Given the description of an element on the screen output the (x, y) to click on. 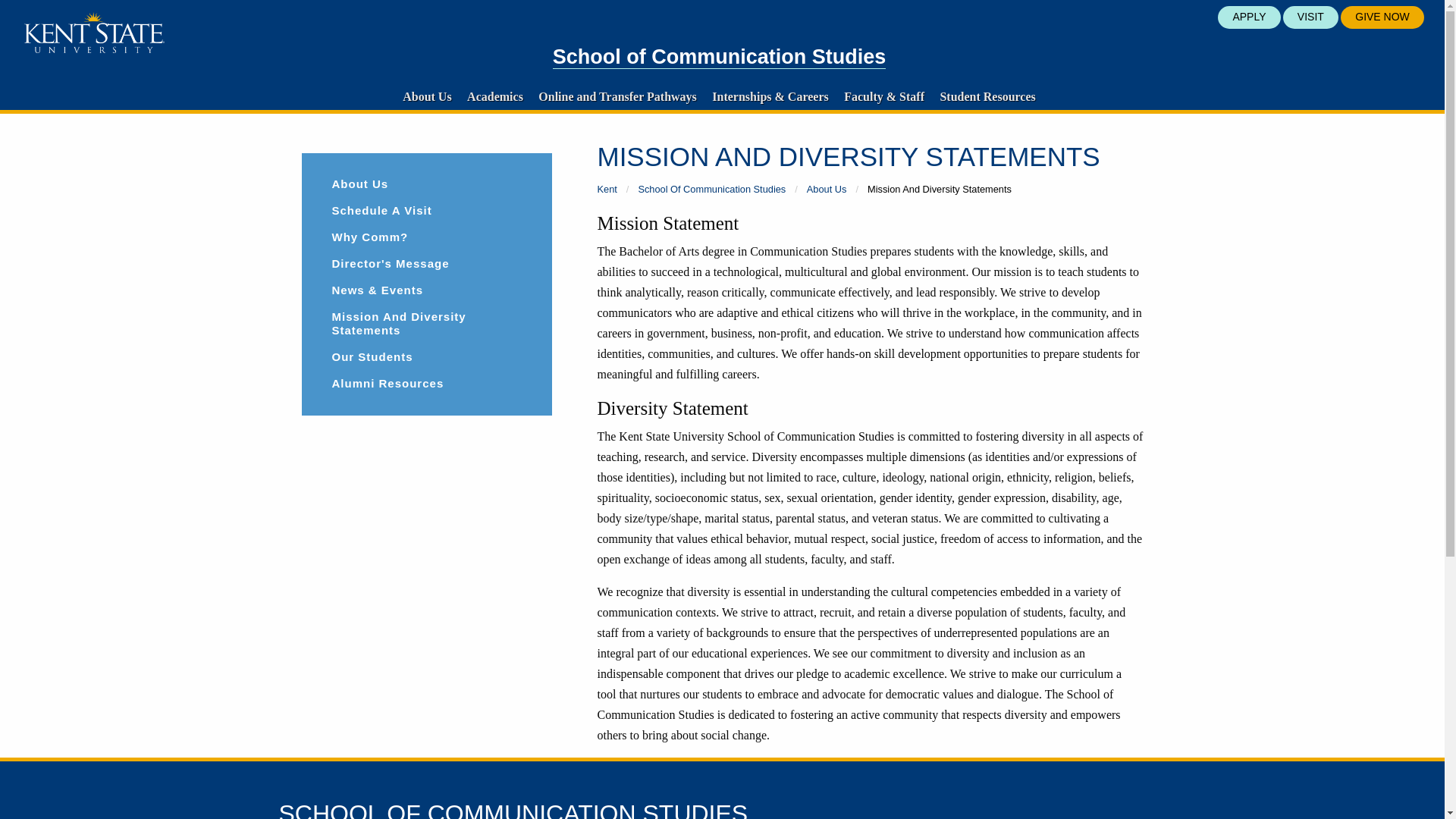
APPLY (1248, 16)
VISIT (1310, 16)
Kent State University logo (94, 32)
About Us (426, 96)
School of Communication Studies (719, 56)
GIVE NOW (1381, 16)
